Given the description of an element on the screen output the (x, y) to click on. 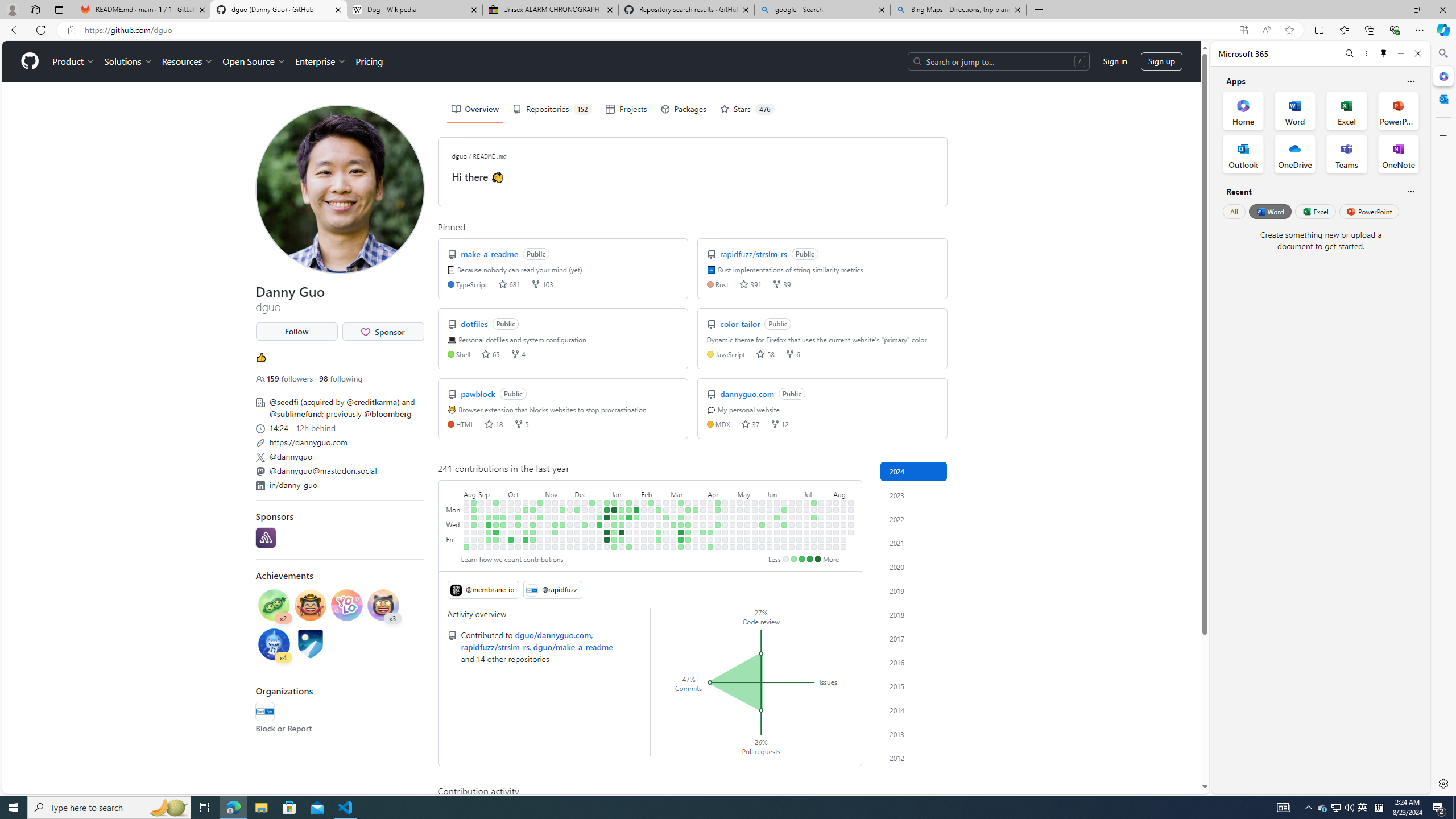
Product (74, 60)
No contributions on April 19th. (717, 539)
3 contributions on August 28th. (473, 509)
No contributions on April 22nd. (725, 509)
No contributions on July 29th. (828, 509)
No contributions on May 31st. (761, 539)
2016 (913, 662)
No contributions on December 12th. (585, 517)
2012 (913, 757)
forks 39 (780, 283)
No contributions on July 25th. (821, 531)
No contributions on August 4th. (836, 502)
Achievement: Starstruck x3 (382, 606)
